Given the description of an element on the screen output the (x, y) to click on. 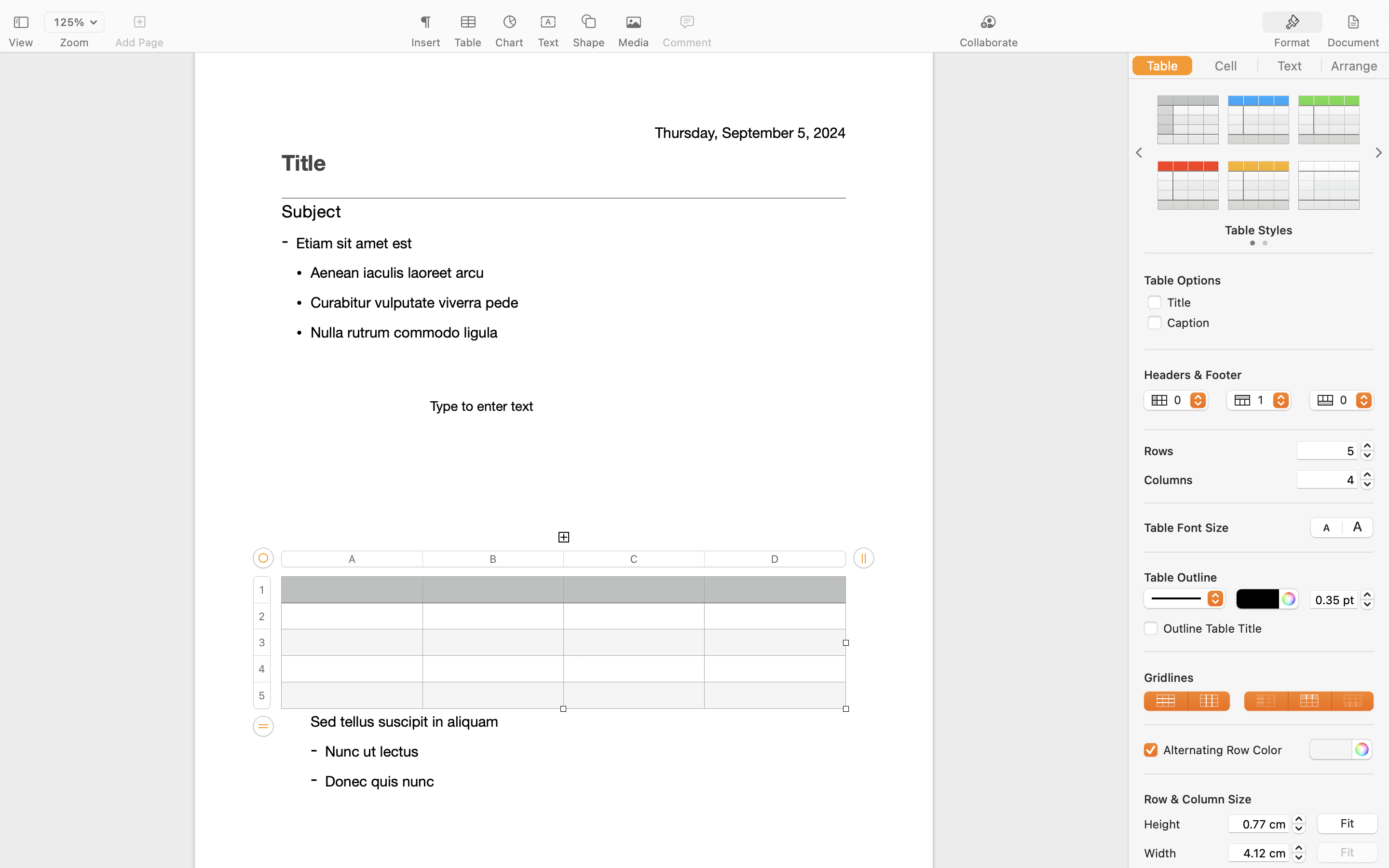
Columns Element type: AXStaticText (1216, 479)
0.77 cm Element type: AXTextField (1258, 823)
